Given the description of an element on the screen output the (x, y) to click on. 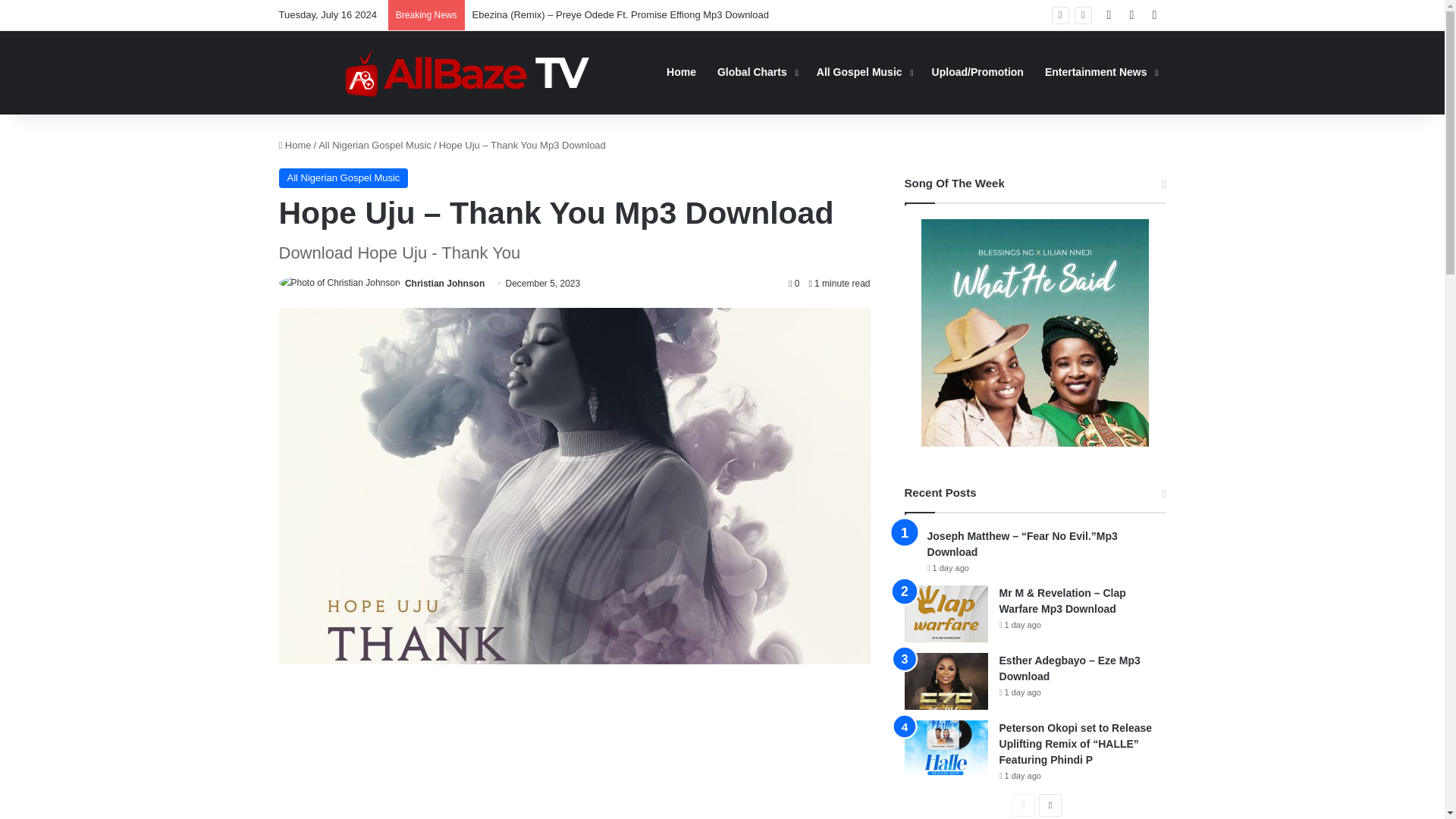
Global Charts (756, 72)
Christian Johnson (444, 283)
Christian Johnson (444, 283)
Advertisement (574, 756)
All Nigerian Gospel Music (344, 178)
Allbaze.com (467, 72)
Song Of The Week (1034, 332)
Home (295, 144)
Entertainment News (1099, 72)
All Gospel Music (863, 72)
All Nigerian Gospel Music (374, 144)
